Given the description of an element on the screen output the (x, y) to click on. 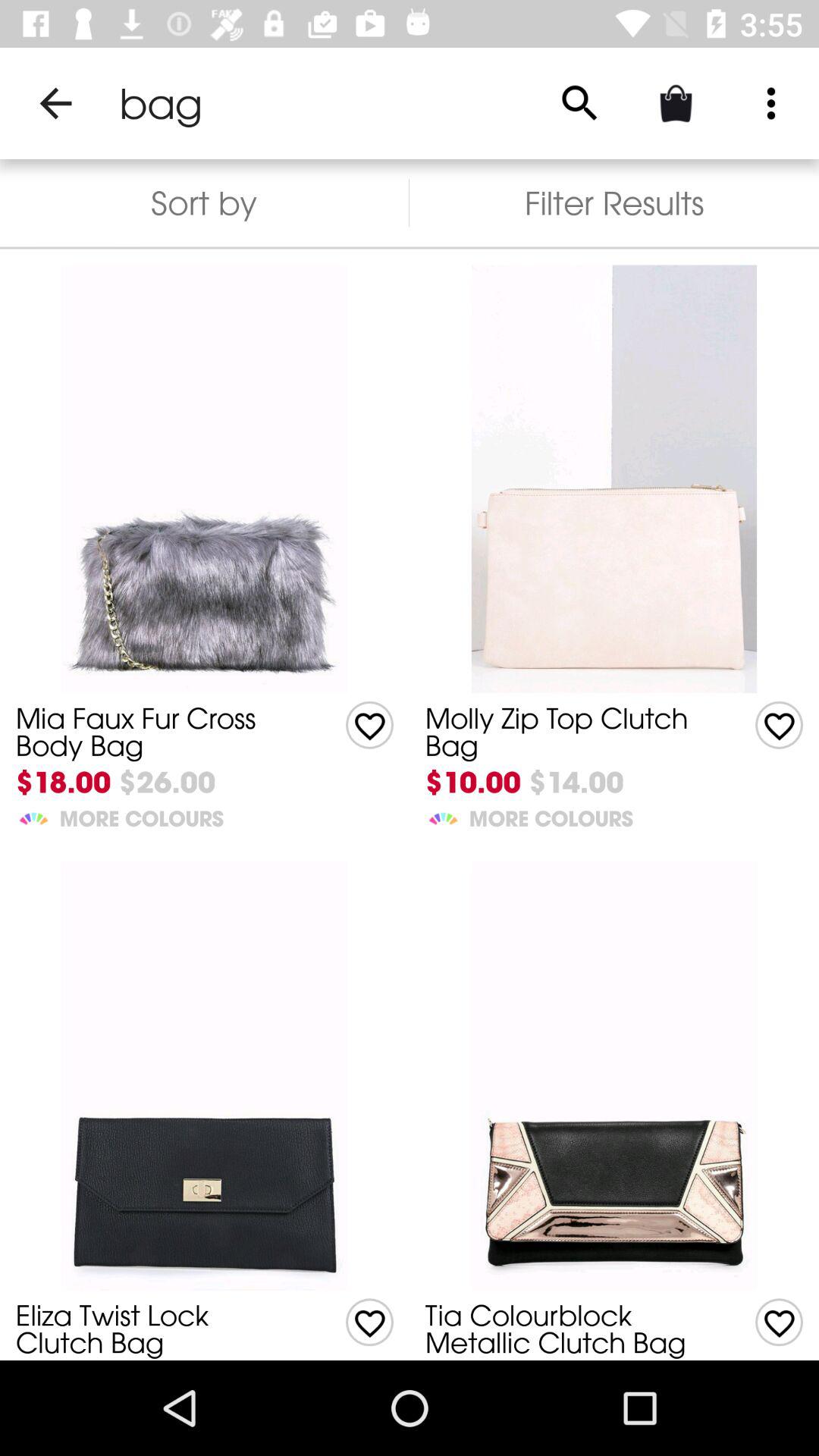
swipe to the mia faux fur item (157, 731)
